Given the description of an element on the screen output the (x, y) to click on. 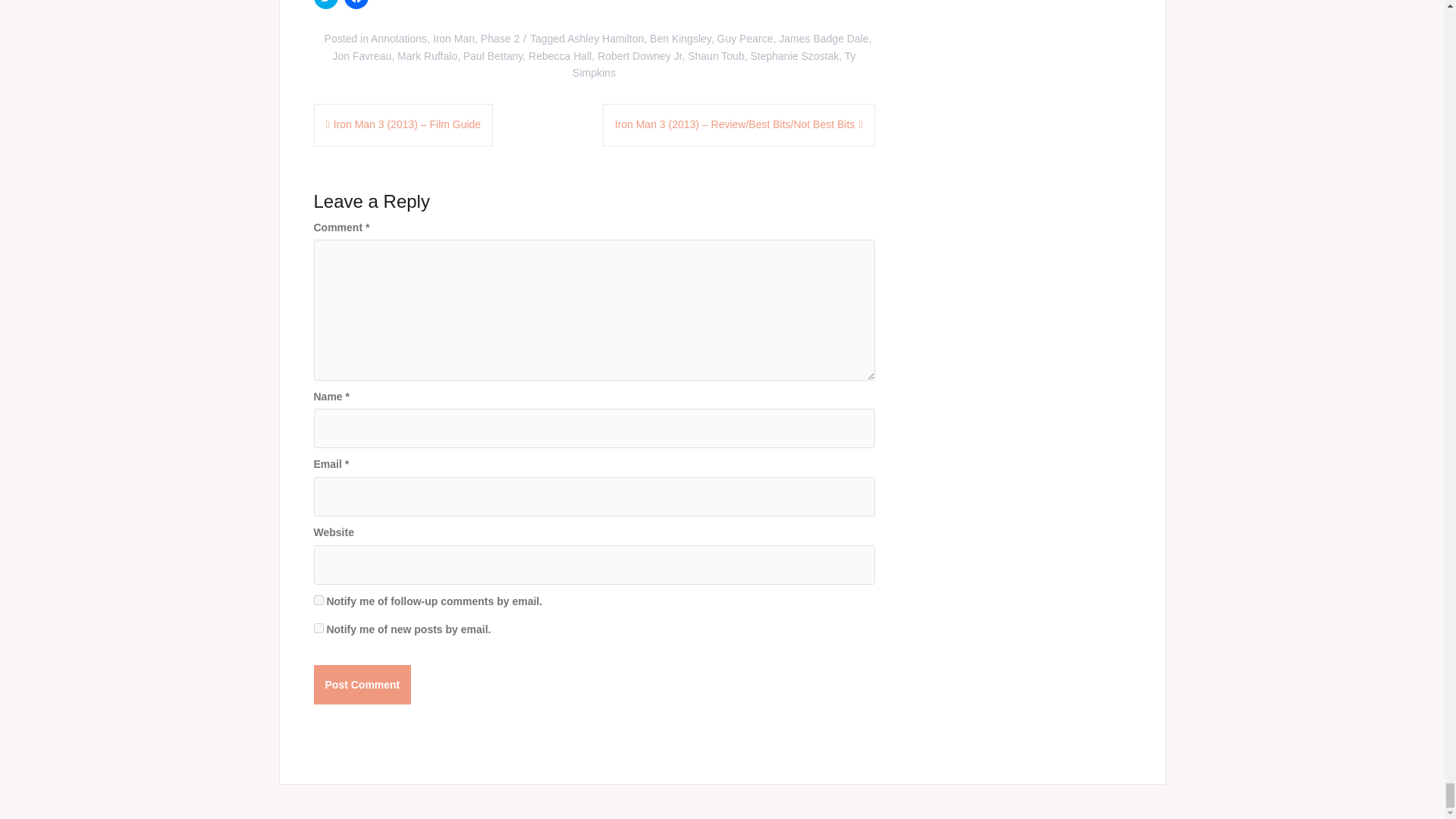
subscribe (318, 628)
subscribe (318, 600)
Post Comment (363, 684)
Click to share on Twitter (325, 4)
Click to share on Facebook (355, 4)
